Given the description of an element on the screen output the (x, y) to click on. 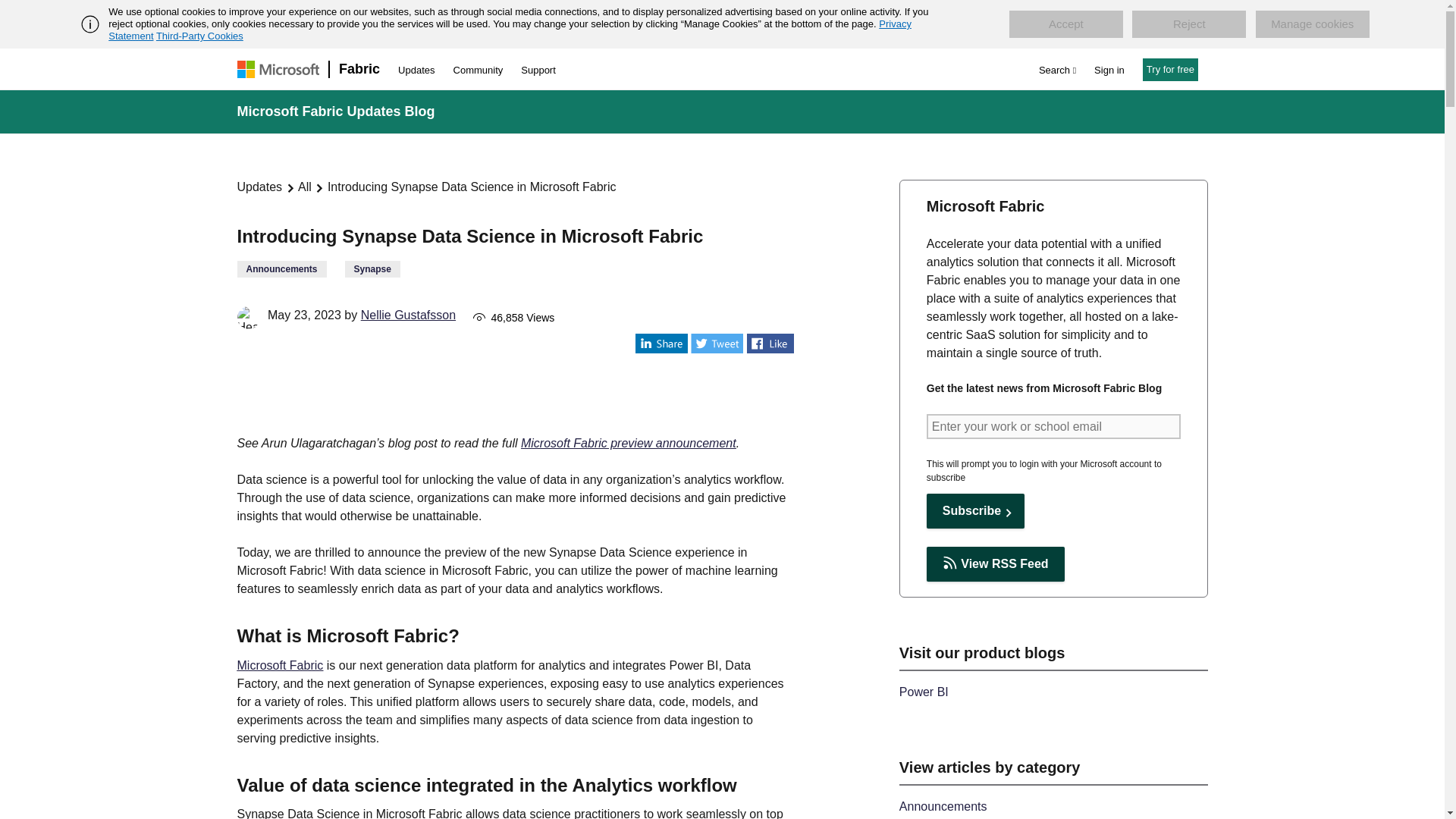
Search (1056, 70)
Community (478, 70)
Manage cookies (1312, 23)
Updates (416, 70)
Microsoft Fabric preview announcement (628, 442)
Nellie Gustafsson (408, 314)
Announcements (280, 269)
Accept (1065, 23)
Synapse (372, 269)
Reject (1189, 23)
Updates (258, 187)
Fabric (359, 68)
Introducing Synapse Data Science in Microsoft Fabric (471, 187)
Search (1056, 70)
Try for free (1170, 69)
